Given the description of an element on the screen output the (x, y) to click on. 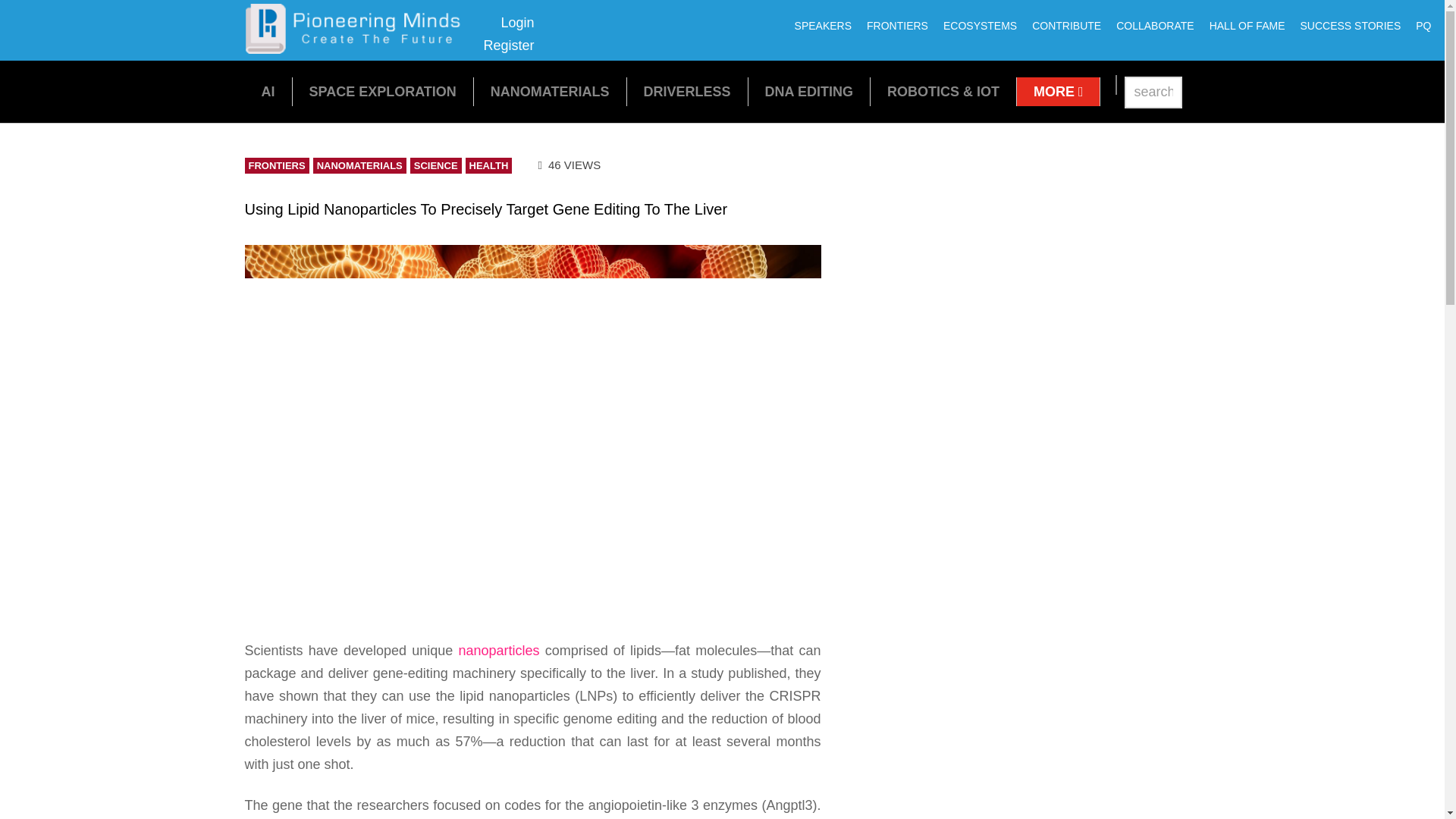
SPACE EXPLORATION (382, 91)
HALL OF FAME (1247, 26)
Pioneering Minds (357, 48)
SUCCESS STORIES (1349, 26)
AI (267, 91)
PQ (1422, 26)
SPEAKERS (823, 26)
COLLABORATE (508, 34)
MORE (1154, 26)
